Given the description of an element on the screen output the (x, y) to click on. 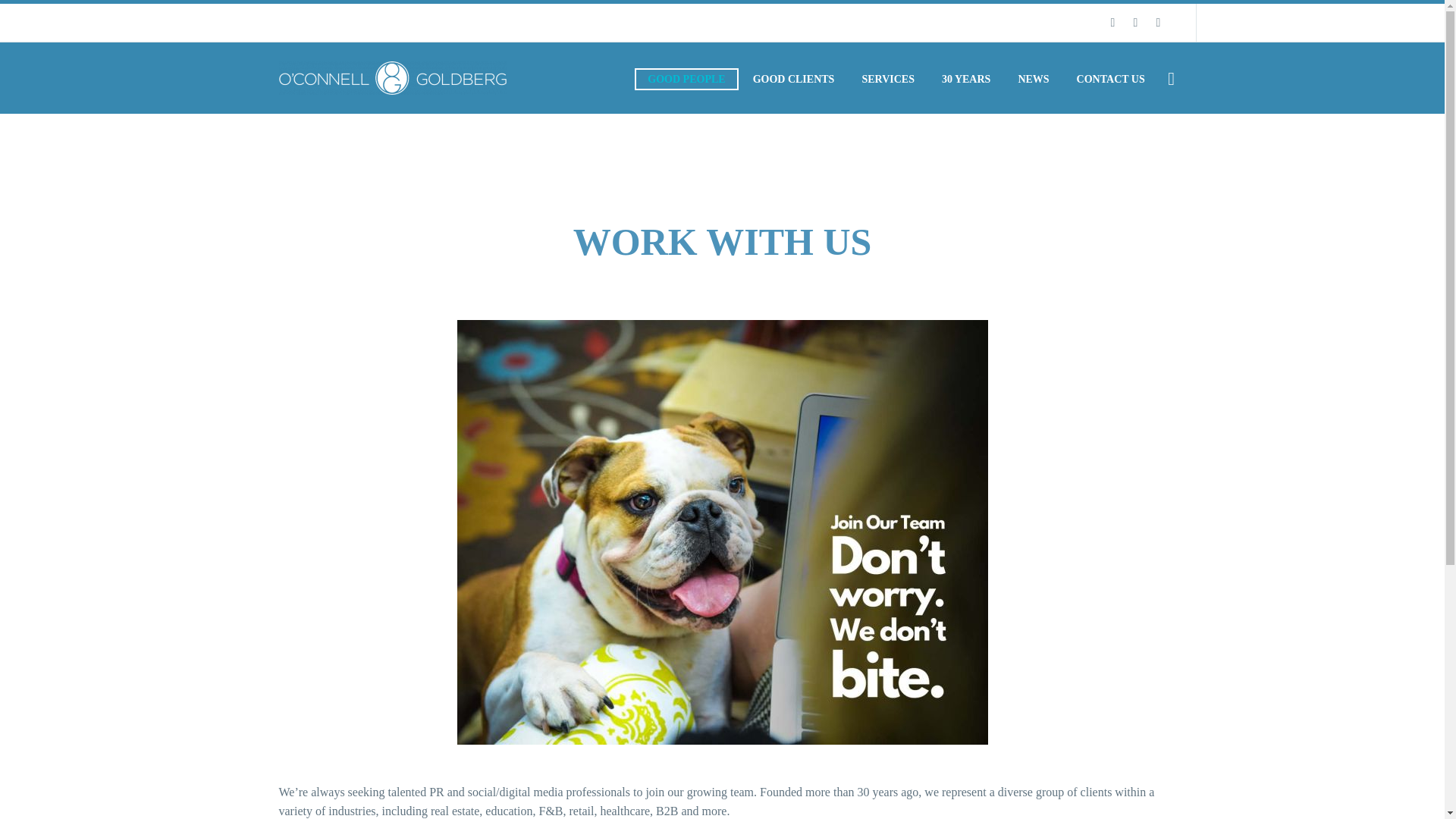
Facebook (1112, 22)
30 YEARS (965, 78)
Instagram (1158, 22)
GOOD PEOPLE (686, 78)
SERVICES (888, 78)
NEWS (1032, 78)
GOOD CLIENTS (793, 78)
CONTACT US (1110, 78)
LinkedIn (1135, 22)
